Given the description of an element on the screen output the (x, y) to click on. 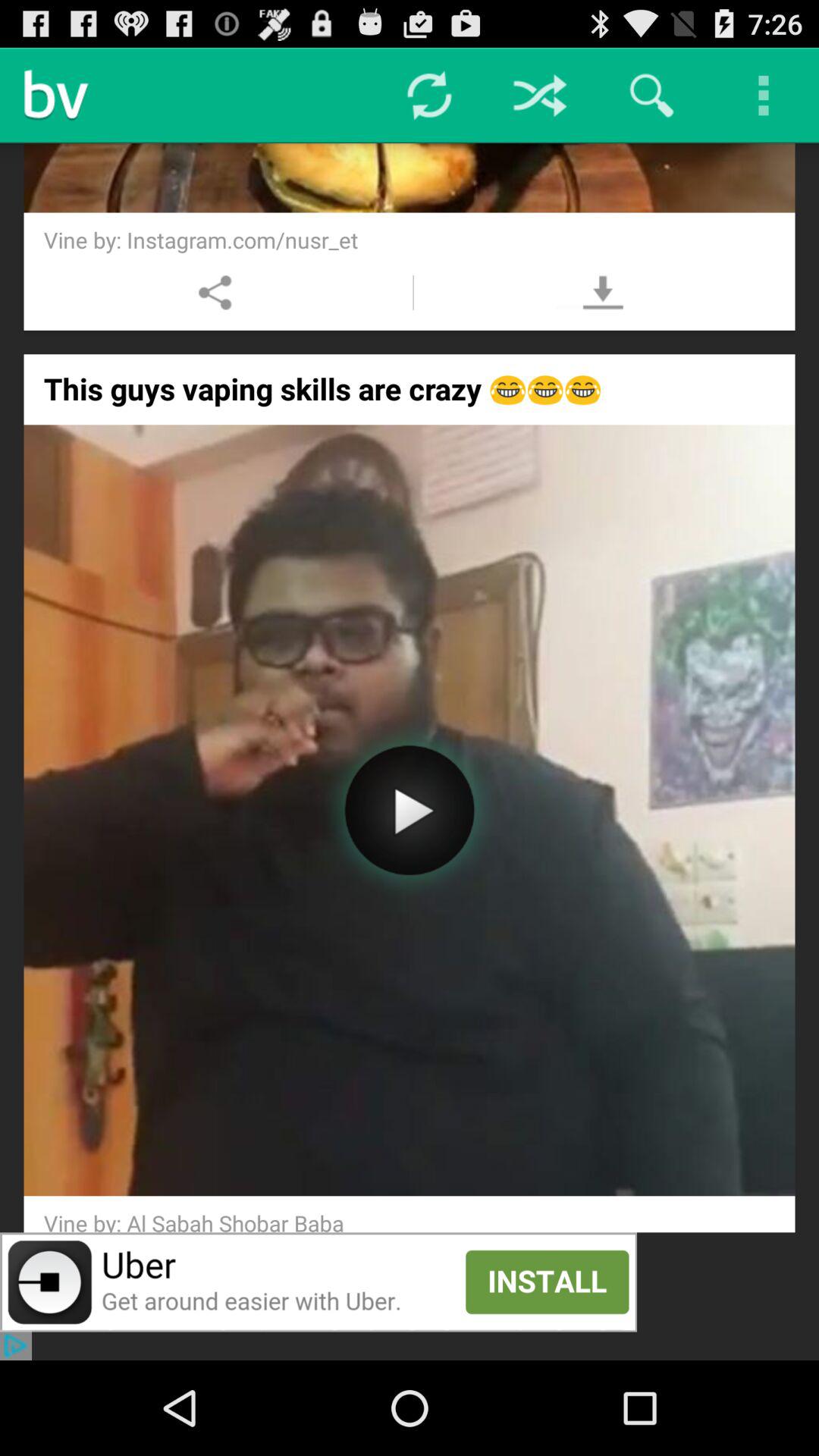
share page (215, 292)
